Given the description of an element on the screen output the (x, y) to click on. 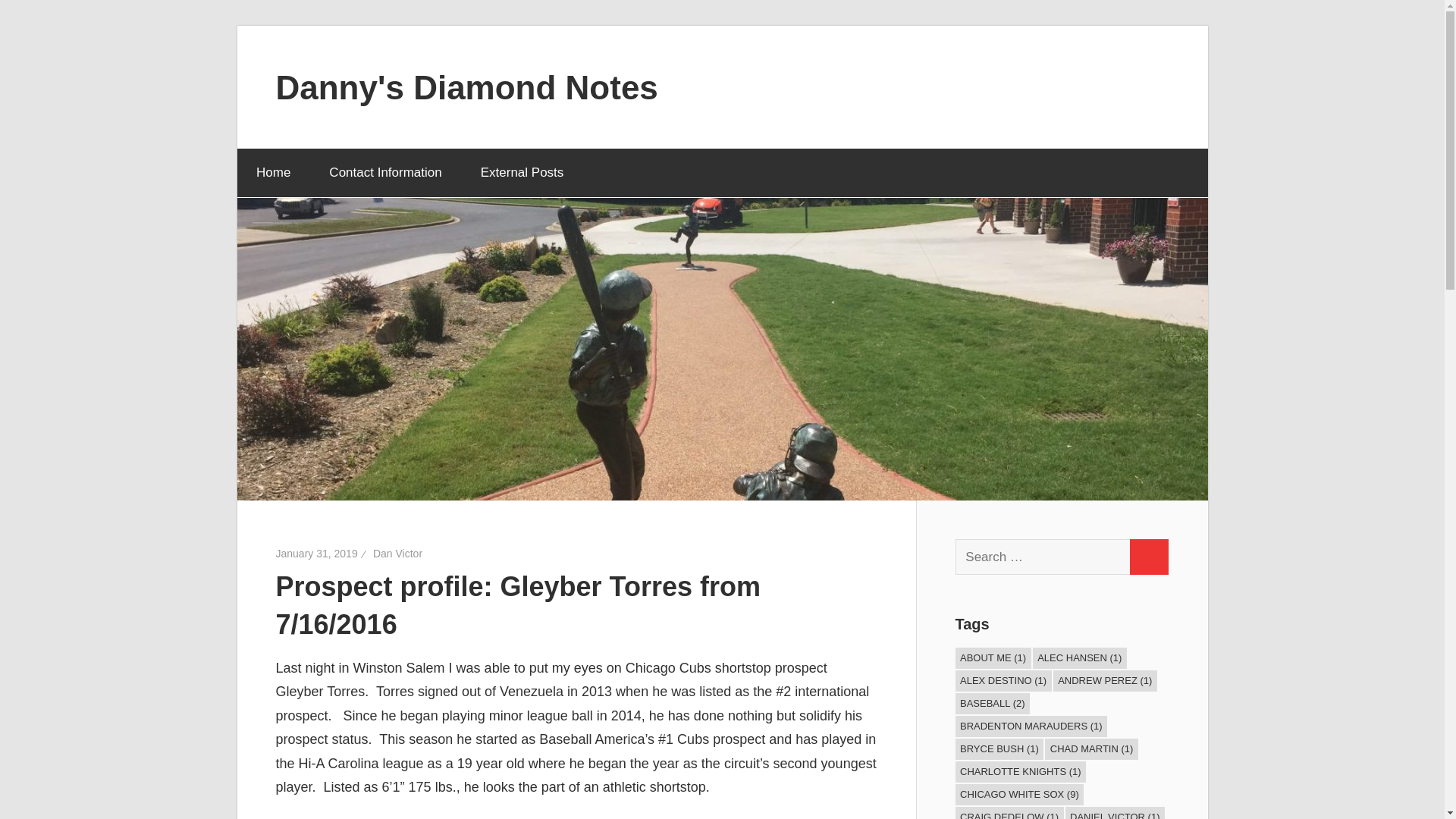
Contact Information (385, 172)
Dan Victor (397, 553)
Danny's Diamond Notes (467, 86)
View all posts by Dan Victor (397, 553)
External Posts (527, 172)
January 31, 2019 (317, 553)
Search for: (1043, 556)
Home (271, 172)
9:22 pm (317, 553)
